Given the description of an element on the screen output the (x, y) to click on. 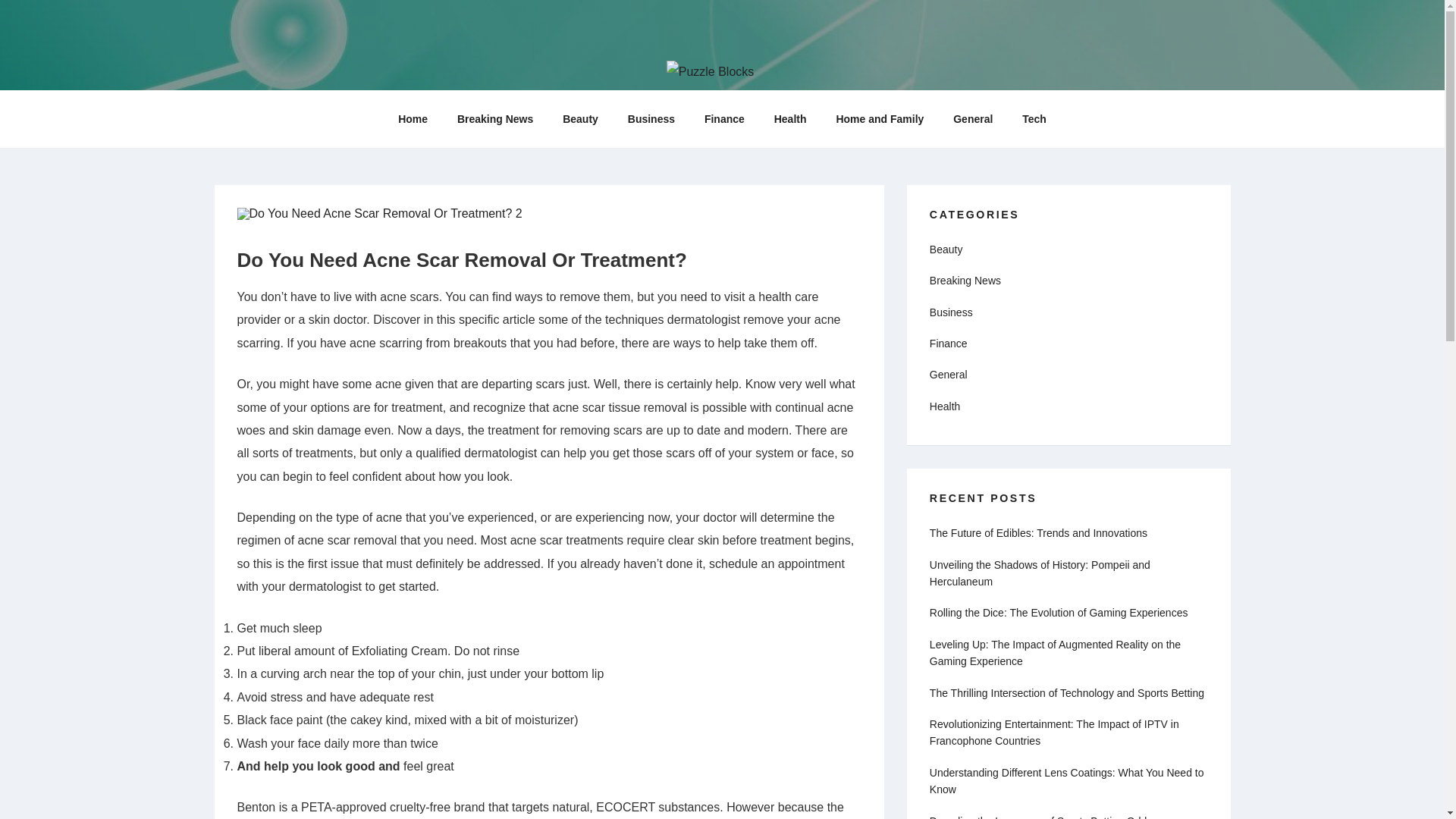
Breaking News (965, 280)
Tech (1034, 119)
PUZZLE BLOCKS (366, 108)
Beauty (580, 119)
Finance (949, 343)
Home and Family (879, 119)
Beauty (946, 249)
Business (650, 119)
Breaking News (495, 119)
